Given the description of an element on the screen output the (x, y) to click on. 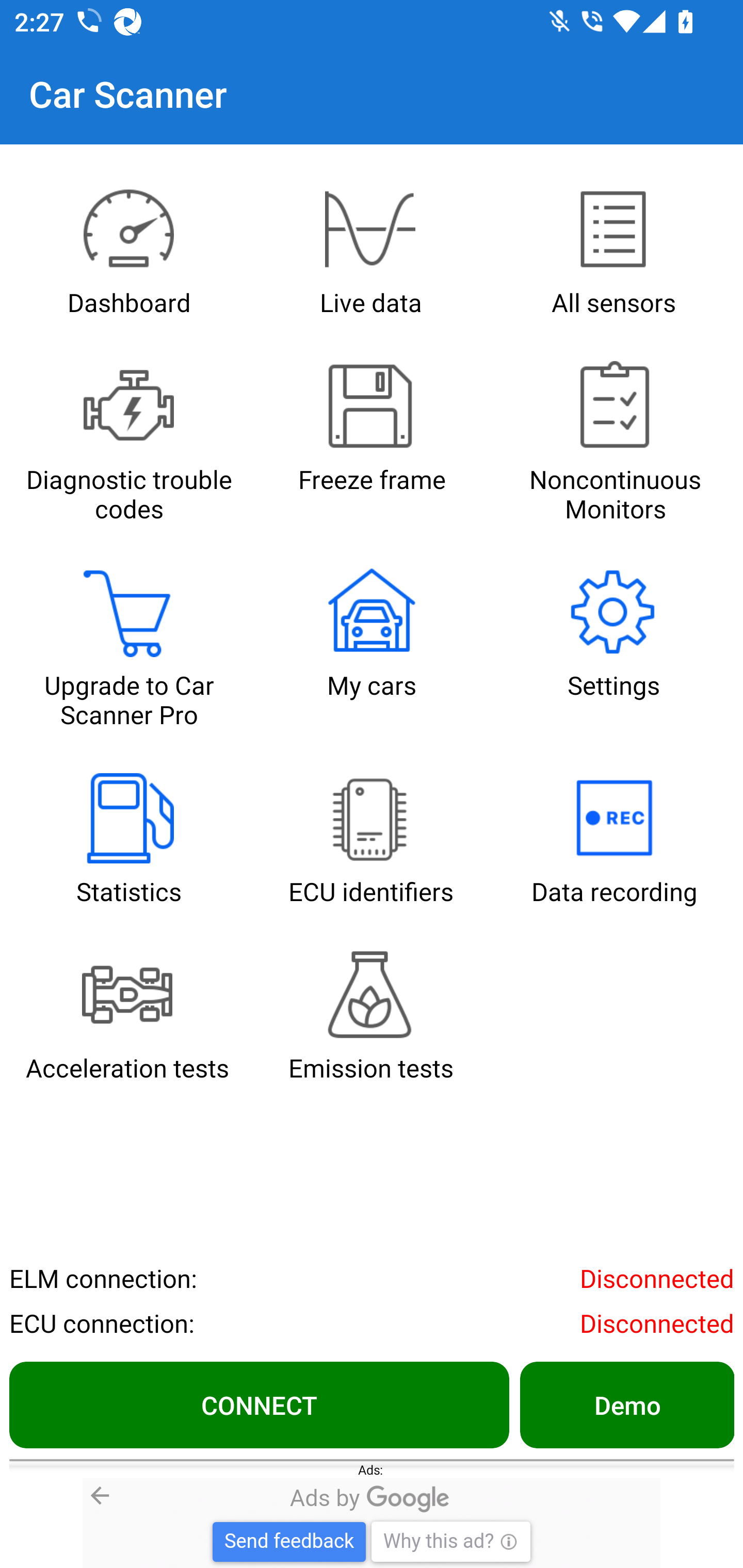
CONNECT (258, 1404)
Demo (627, 1404)
